Given the description of an element on the screen output the (x, y) to click on. 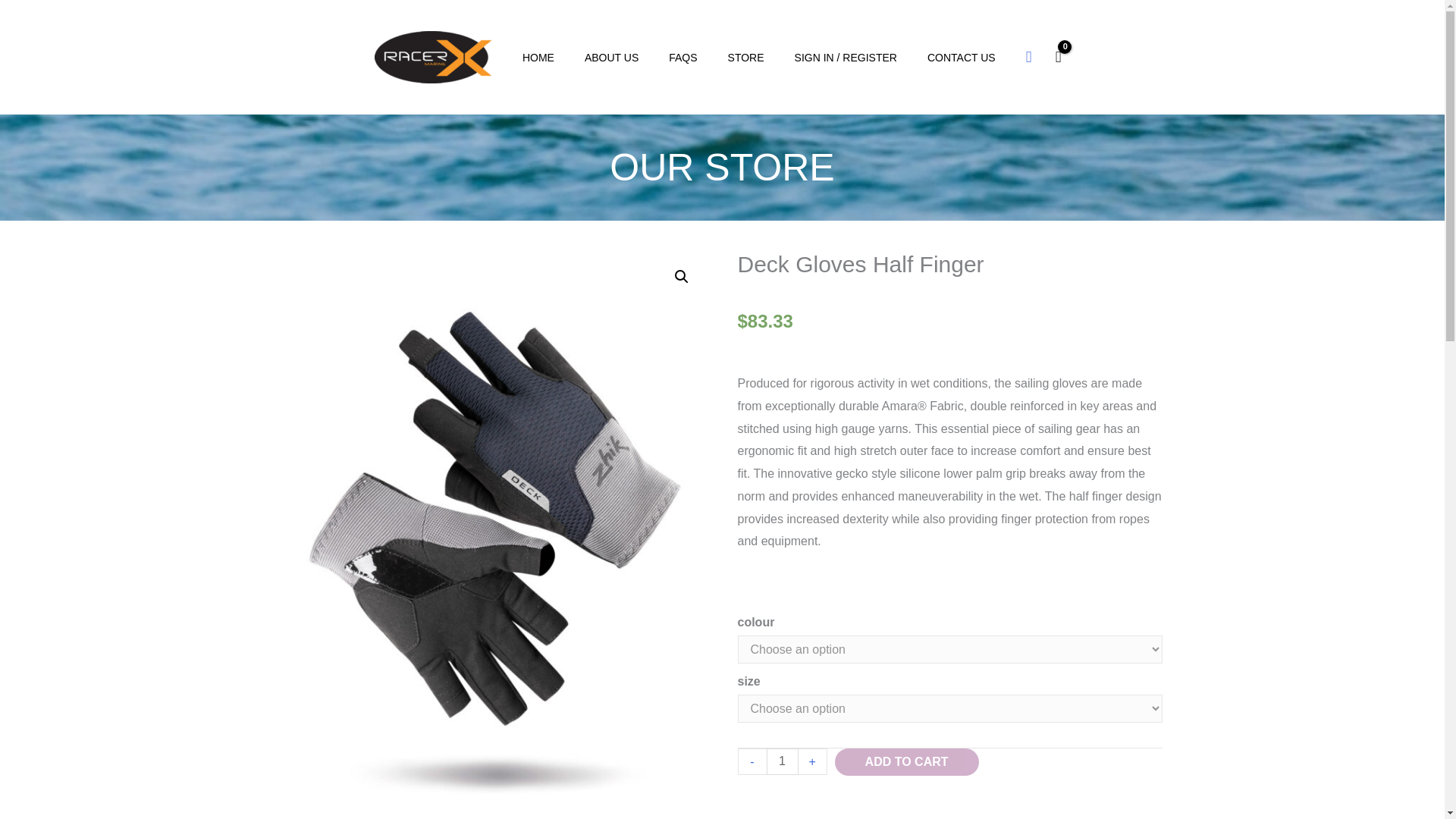
Search (18, 15)
Search (1029, 56)
ADD TO CART (906, 761)
STORE (745, 57)
- (750, 761)
FAQS (682, 57)
ABOUT US (611, 57)
CONTACT US (961, 57)
View your shopping cart (1058, 56)
HOME (537, 57)
Qty (781, 761)
1 (781, 761)
